Given the description of an element on the screen output the (x, y) to click on. 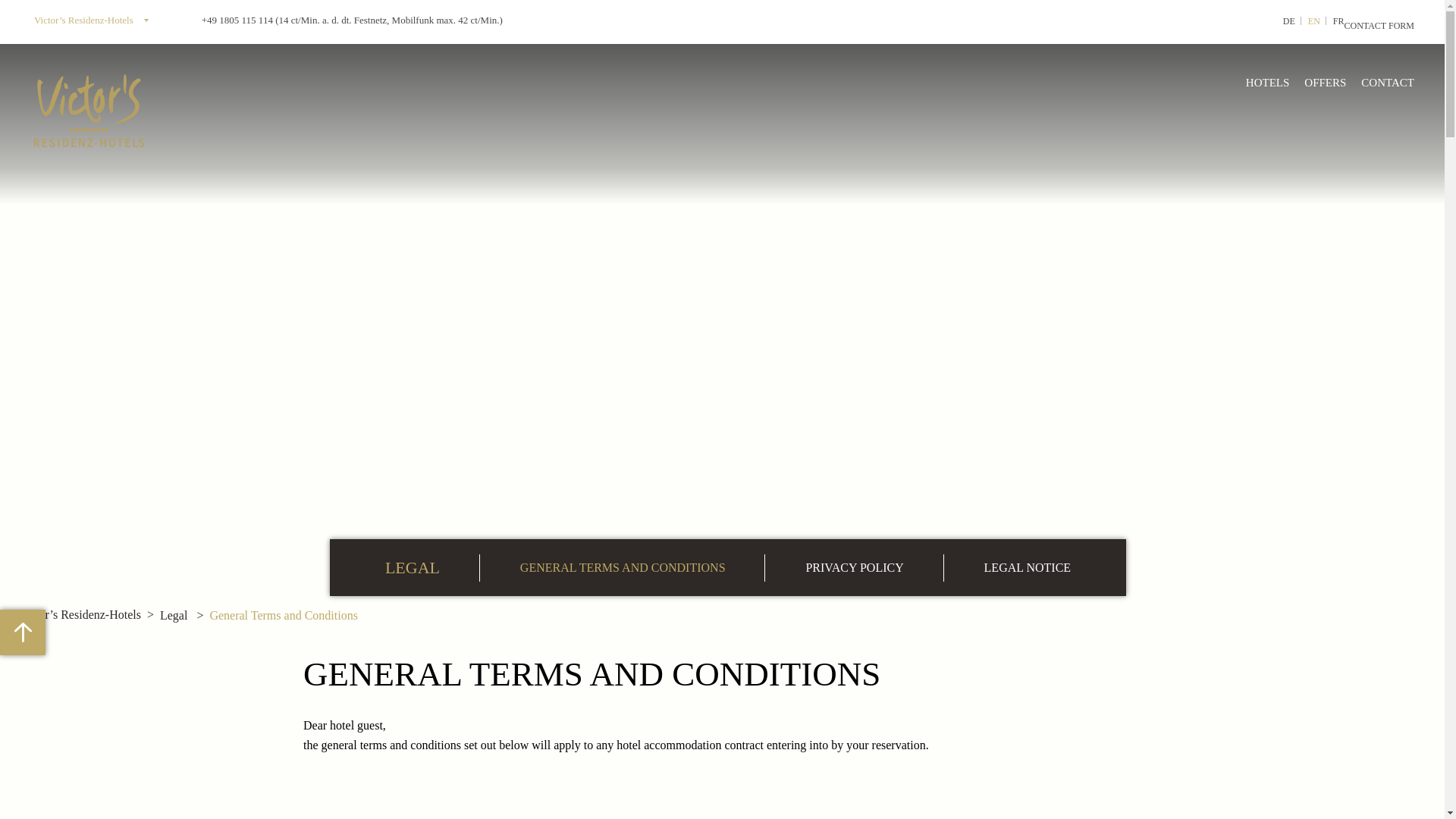
FR (1331, 21)
LEGAL NOTICE (1026, 565)
General Terms and Conditions (282, 615)
EN (1307, 21)
OFFERS (1325, 81)
GENERAL TERMS AND CONDITIONS (622, 565)
DE (1282, 21)
CONTACT (1388, 81)
HOTELS (1268, 81)
PRIVACY POLICY (854, 565)
